Given the description of an element on the screen output the (x, y) to click on. 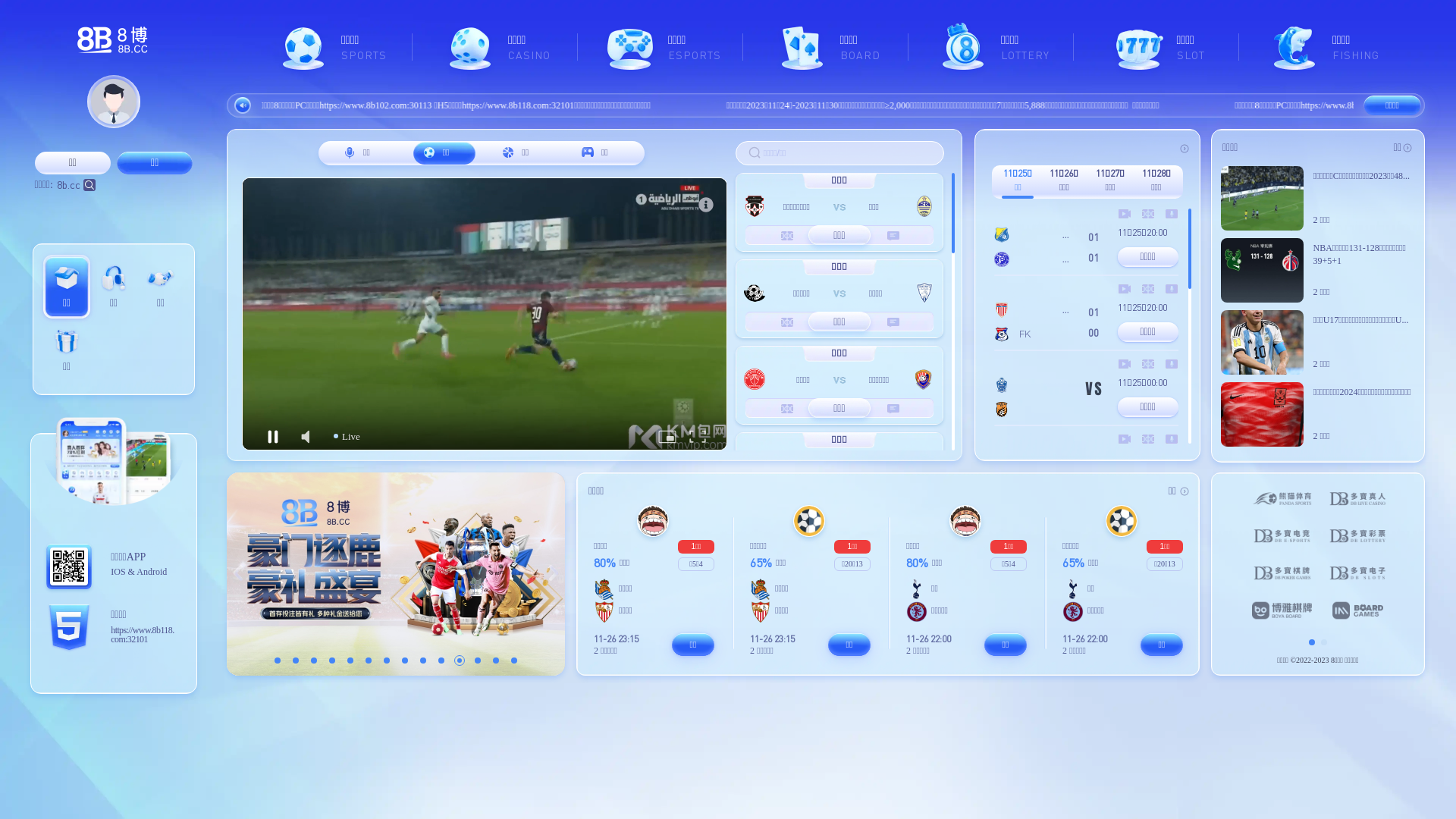
https://www.8b118.com:32101 Element type: text (143, 633)
